Given the description of an element on the screen output the (x, y) to click on. 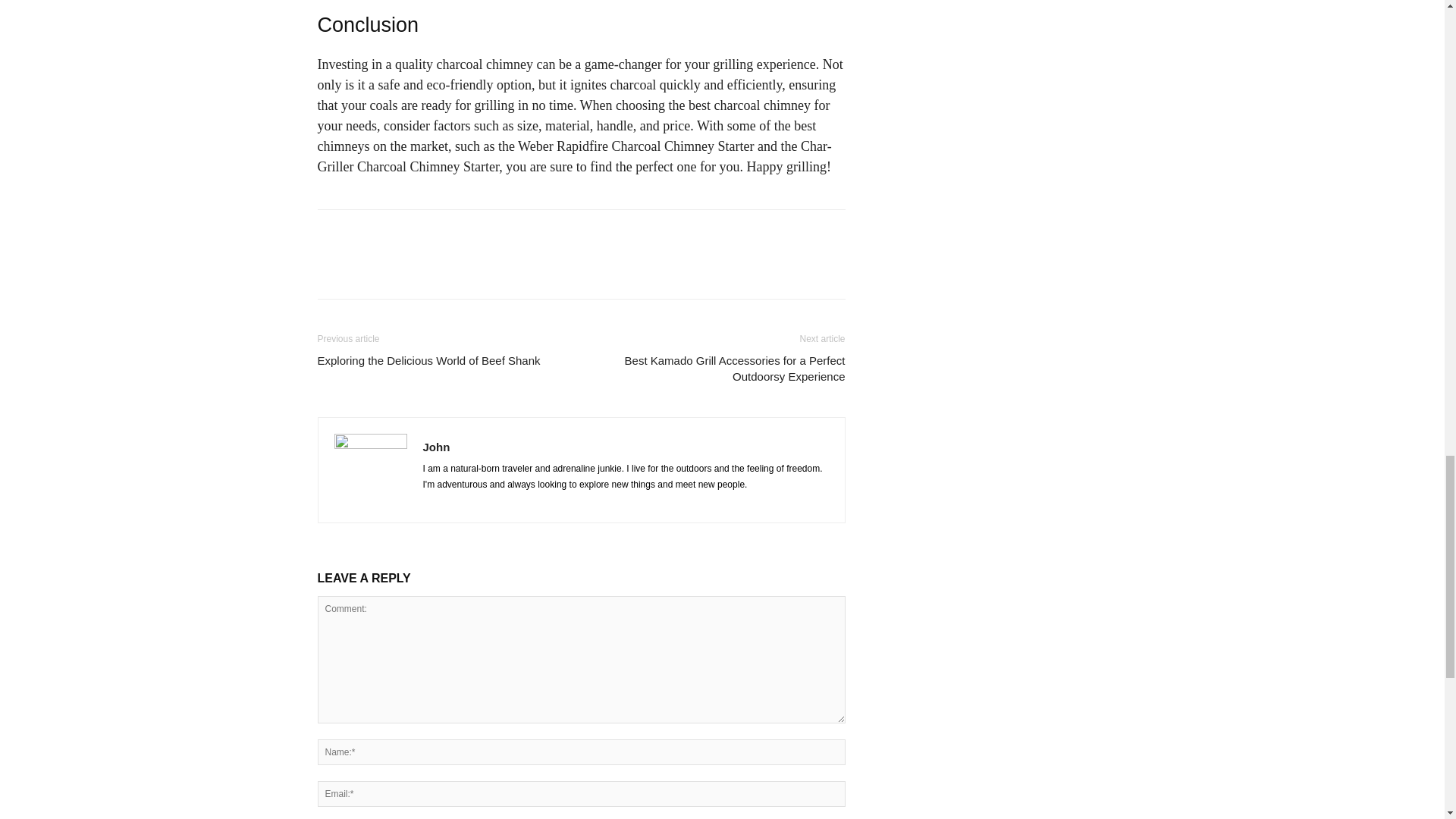
Exploring the Delicious World of Beef Shank (428, 359)
John (436, 445)
bottomFacebookLike (430, 233)
